Given the description of an element on the screen output the (x, y) to click on. 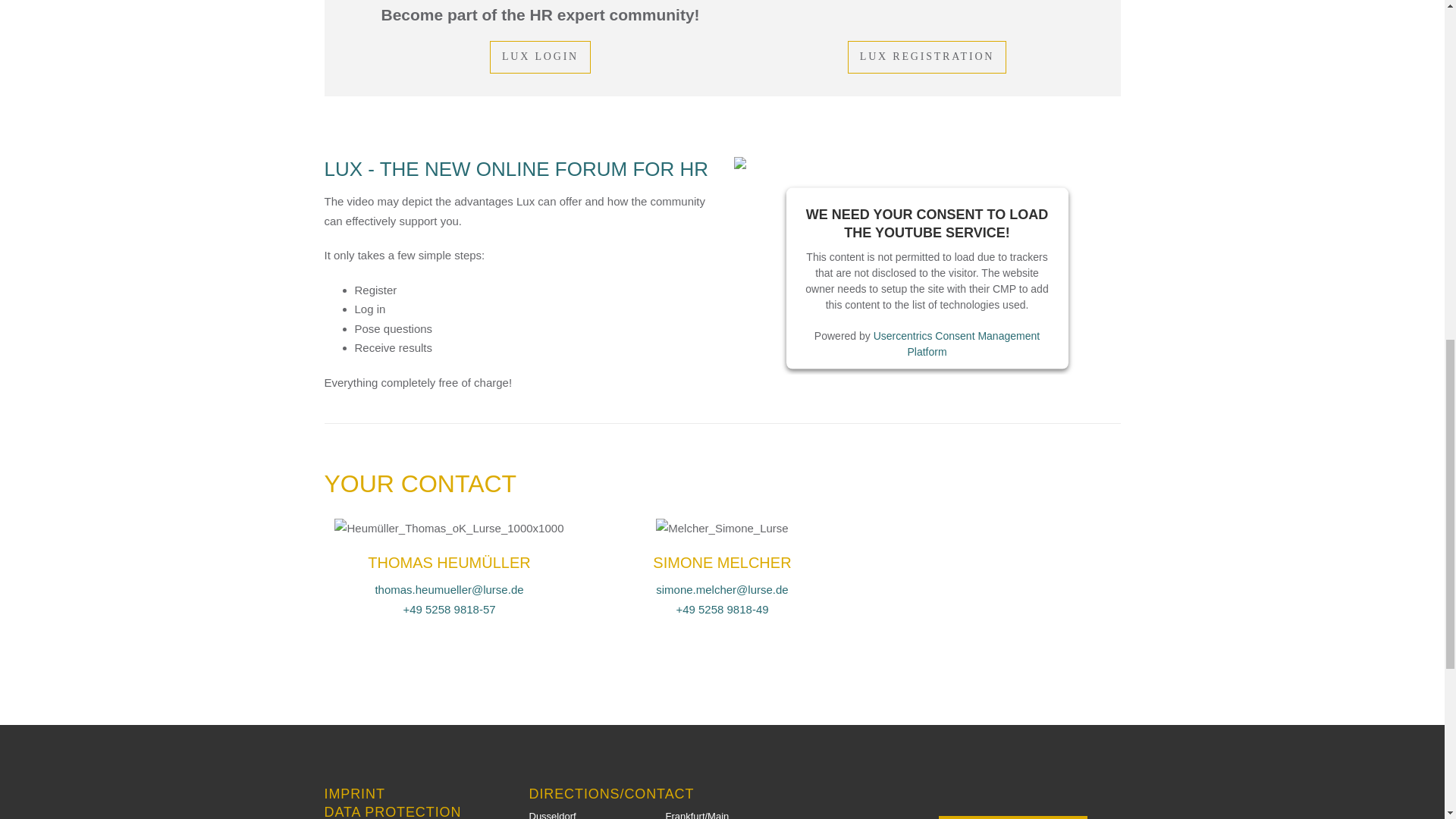
Lux registration (926, 56)
Anfrage senden (1013, 817)
Lux Login (540, 56)
